Given the description of an element on the screen output the (x, y) to click on. 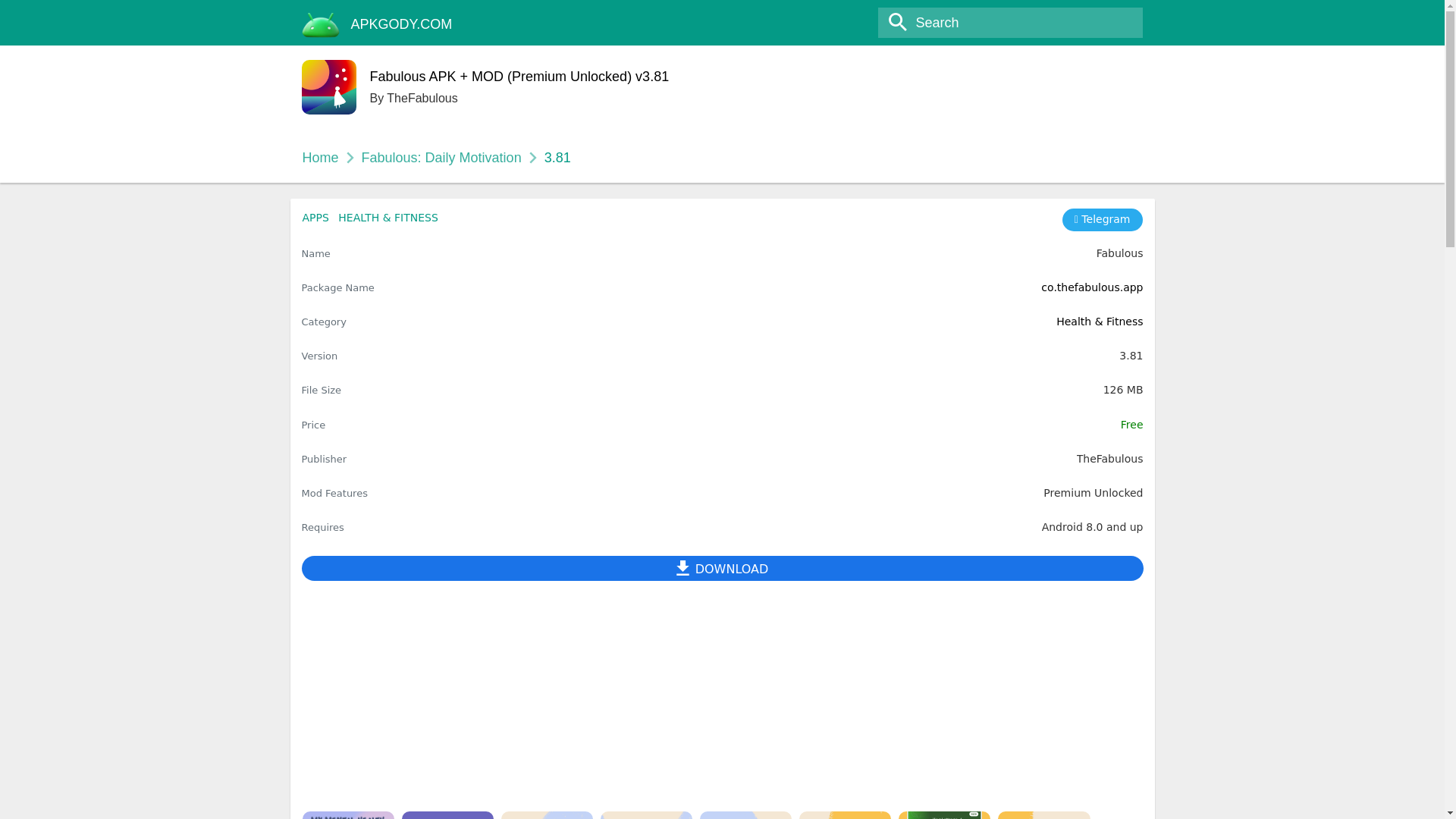
APKGODY.COM (401, 23)
Home (319, 157)
APKGODY.COM (401, 23)
APPS (315, 217)
DOWNLOAD (721, 568)
GO (18, 13)
Telegram (1102, 219)
Fabulous: Daily Motivation (441, 157)
